Given the description of an element on the screen output the (x, y) to click on. 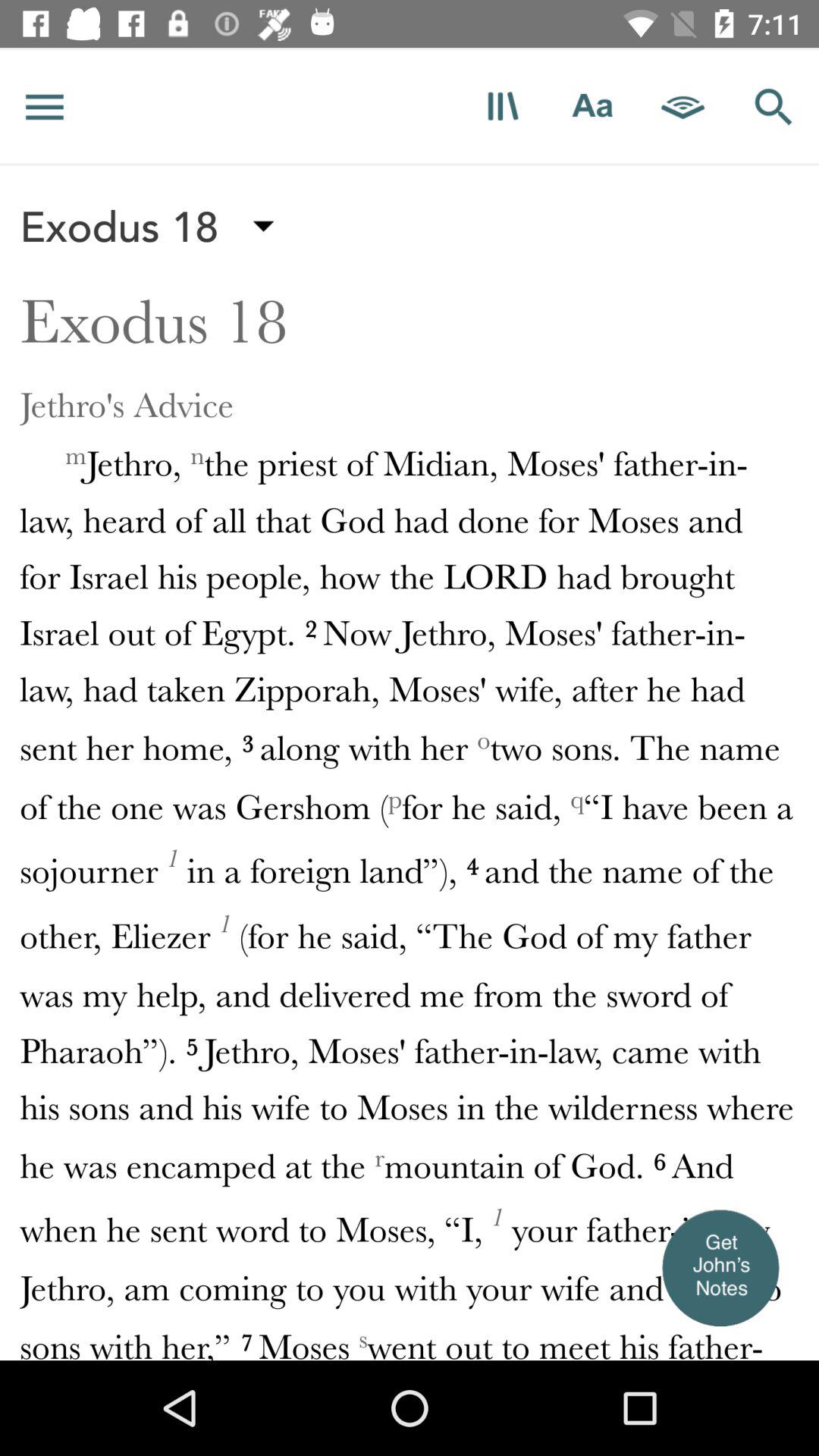
font options (592, 106)
